Given the description of an element on the screen output the (x, y) to click on. 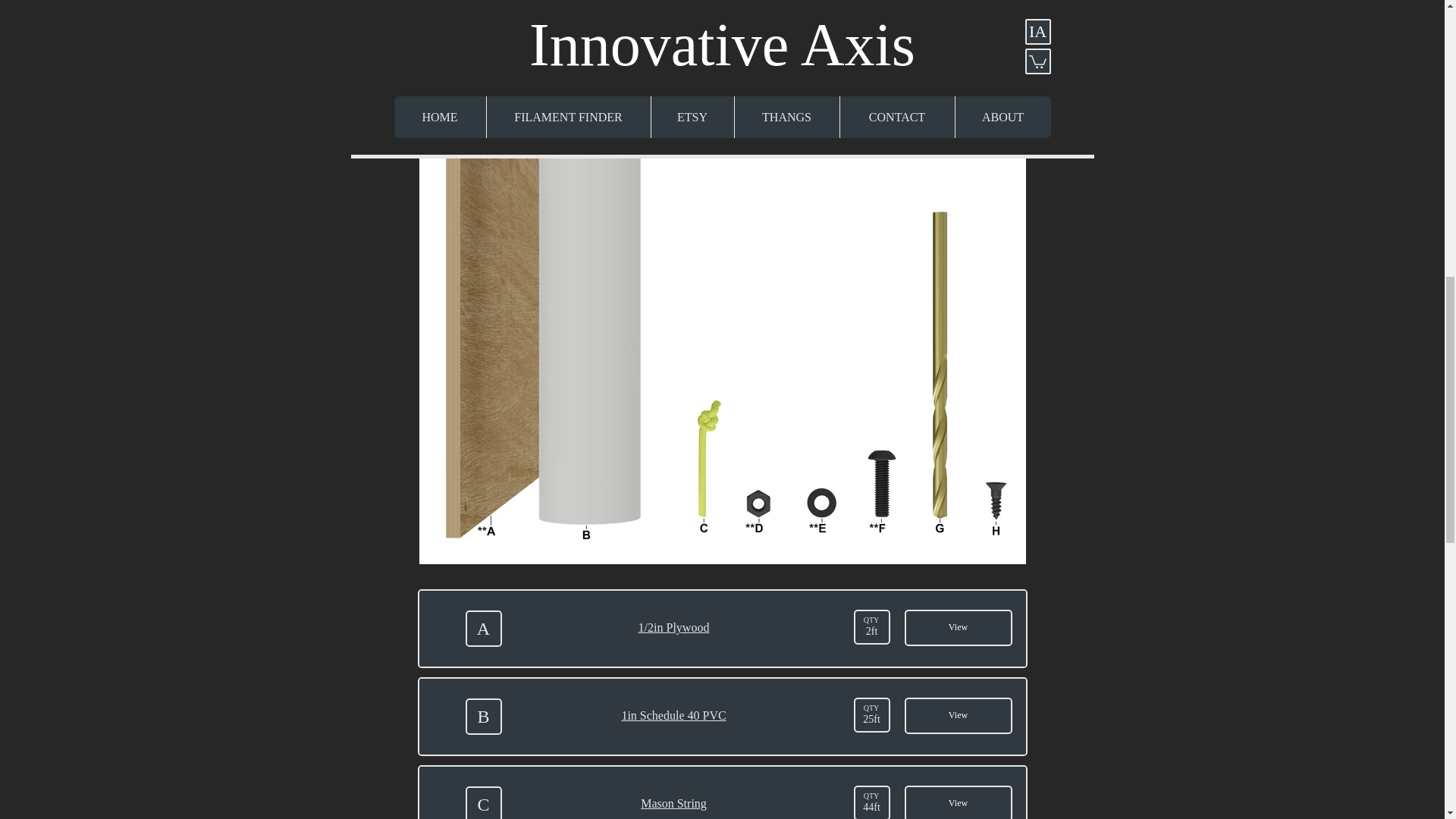
View (957, 715)
View (957, 802)
View (957, 627)
